Given the description of an element on the screen output the (x, y) to click on. 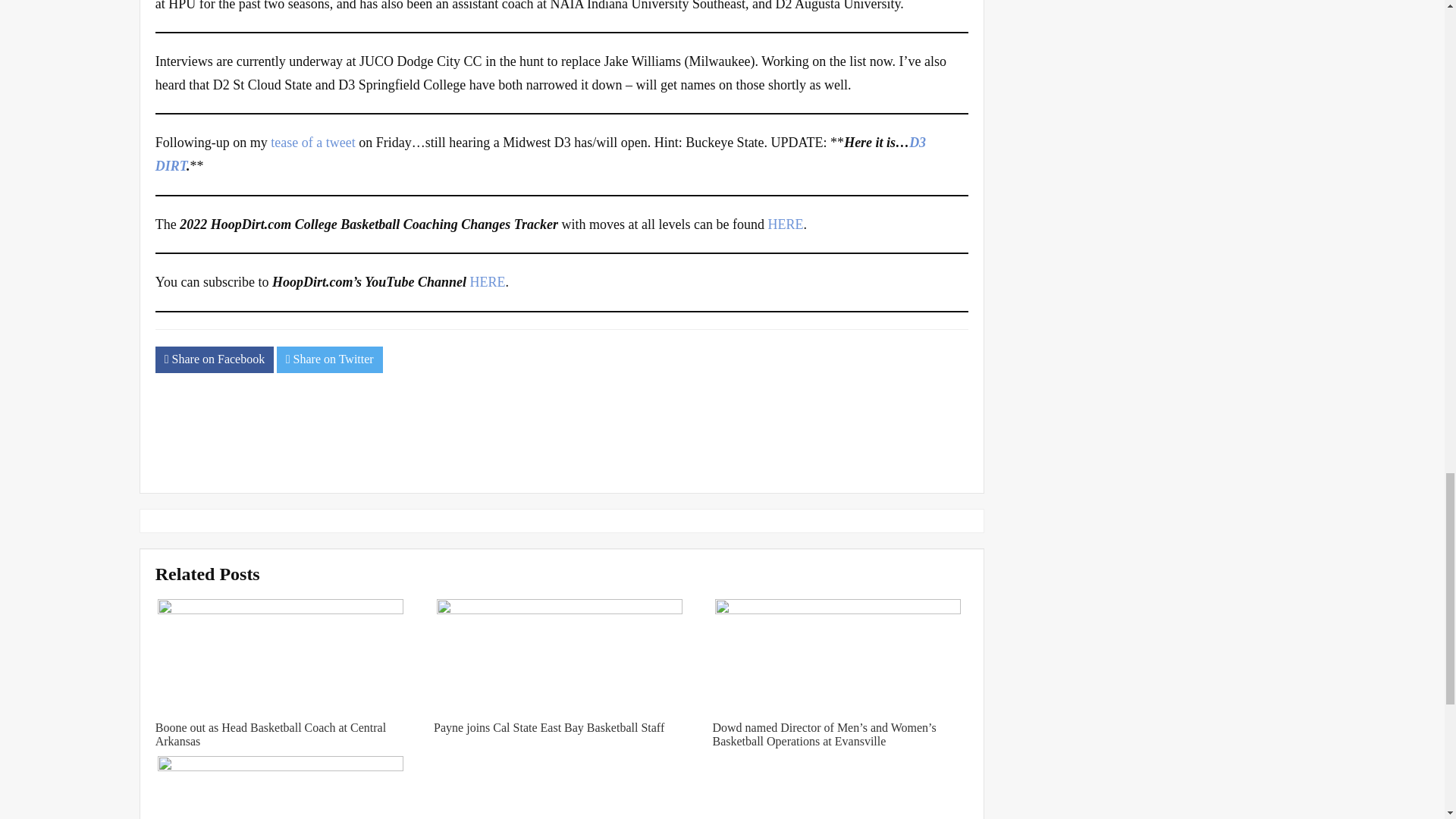
Share on Facebook (214, 359)
tease of a tweet (312, 142)
Share on Twitter (329, 359)
Payne joins Cal State East Bay Basketball Staff (548, 727)
D3 DIRT (540, 154)
Boone out as Head Basketball Coach at Central Arkansas (270, 734)
HERE (487, 281)
HERE (785, 224)
